Given the description of an element on the screen output the (x, y) to click on. 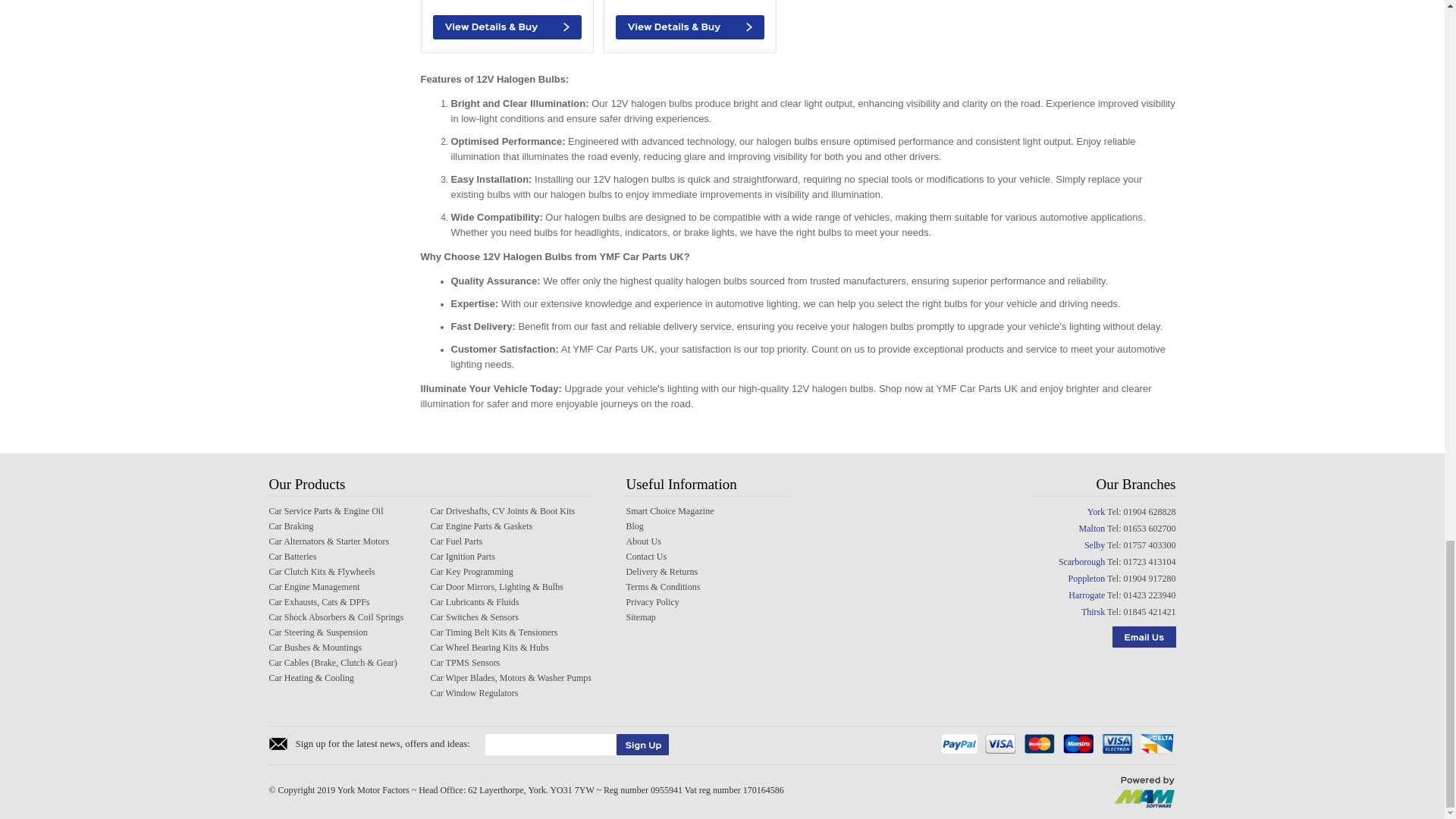
sign up (641, 744)
